Given the description of an element on the screen output the (x, y) to click on. 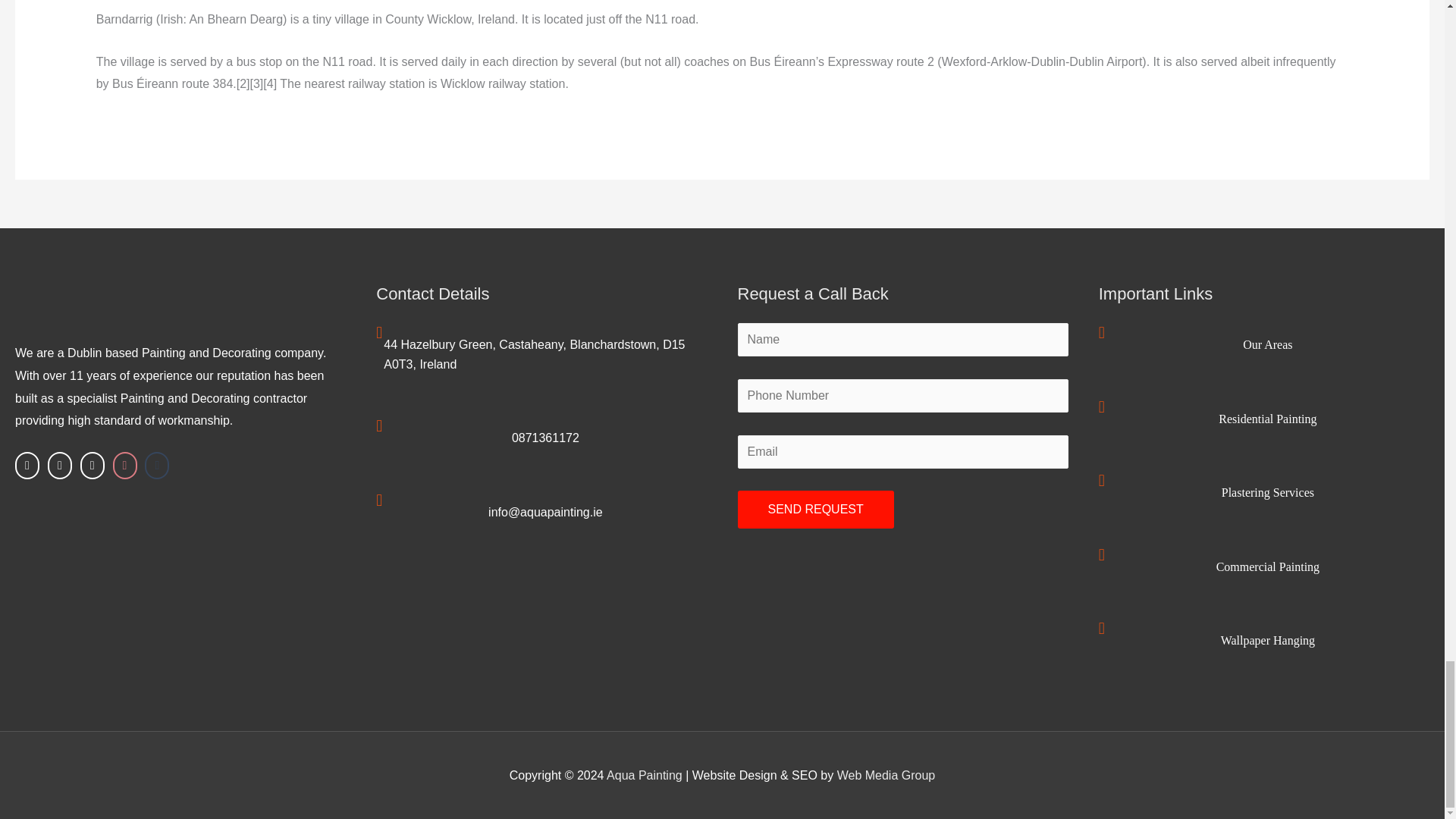
0871361172 (545, 437)
SEND REQUEST (814, 509)
